Given the description of an element on the screen output the (x, y) to click on. 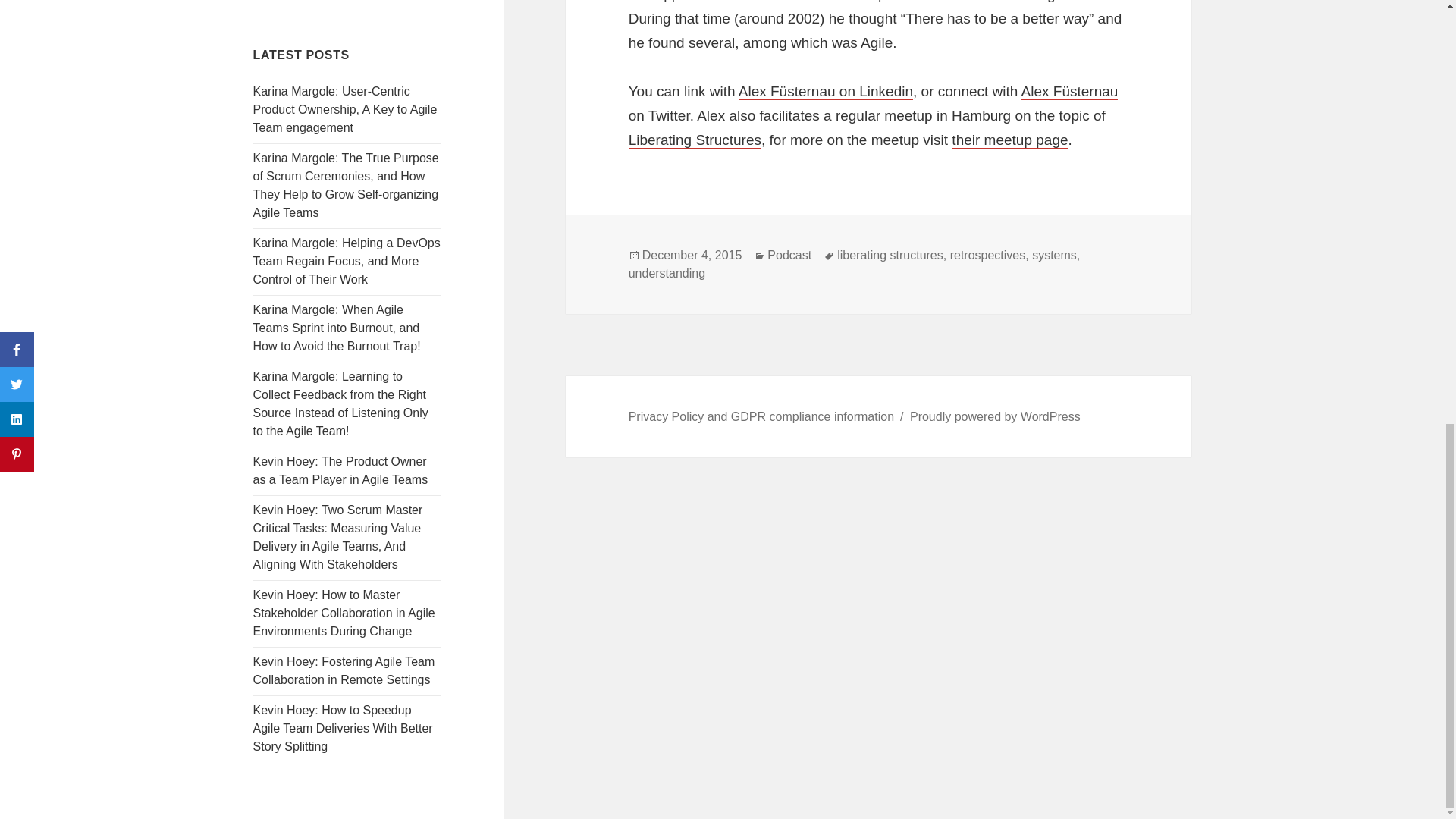
Proudly powered by WordPress (995, 417)
their meetup page (1009, 139)
Privacy Policy and GDPR compliance information (760, 417)
retrospectives (988, 255)
December 4, 2015 (692, 255)
Podcast (788, 255)
